Given the description of an element on the screen output the (x, y) to click on. 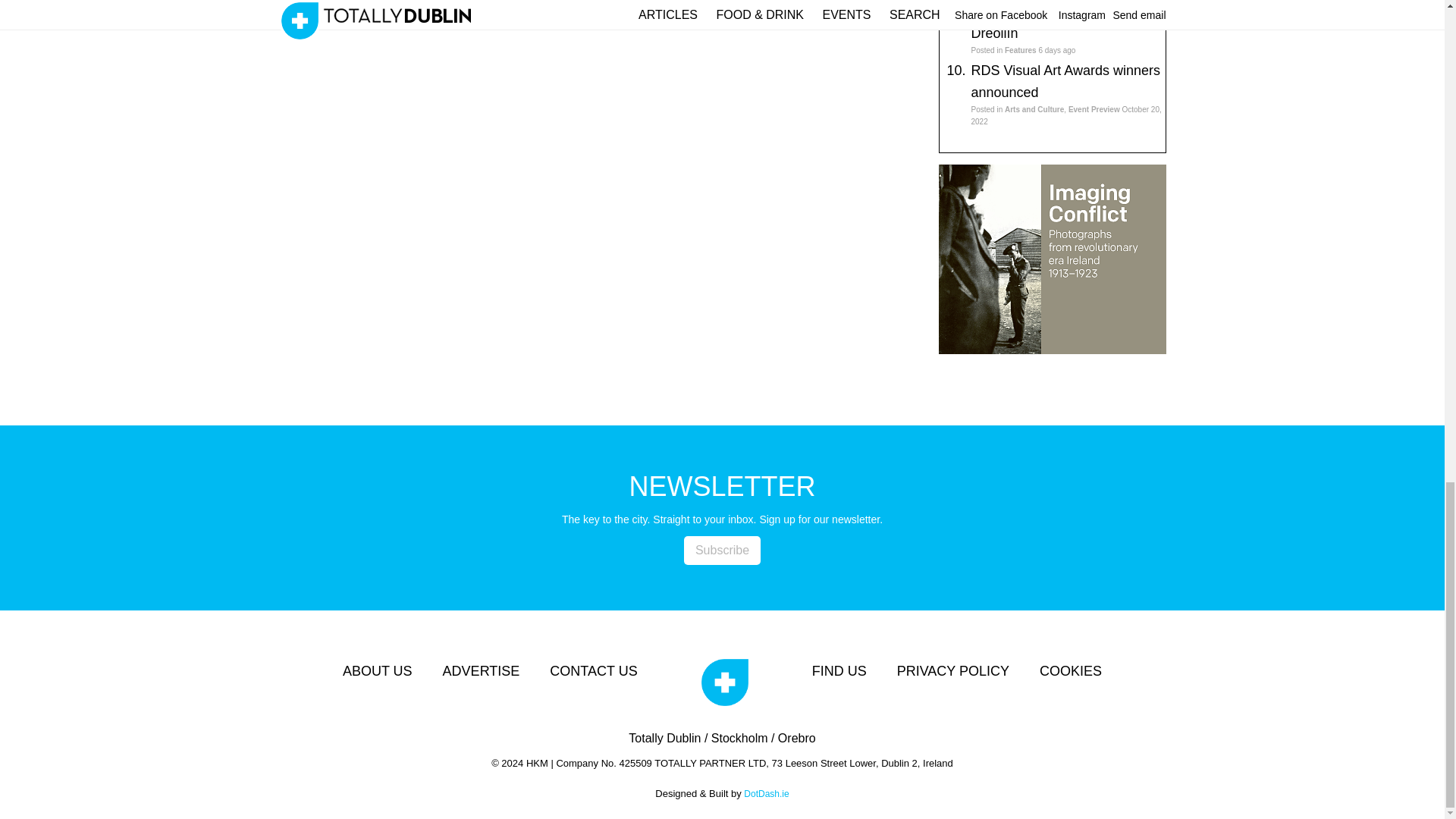
RDS Visual Art Awards winners announced (1064, 81)
